Given the description of an element on the screen output the (x, y) to click on. 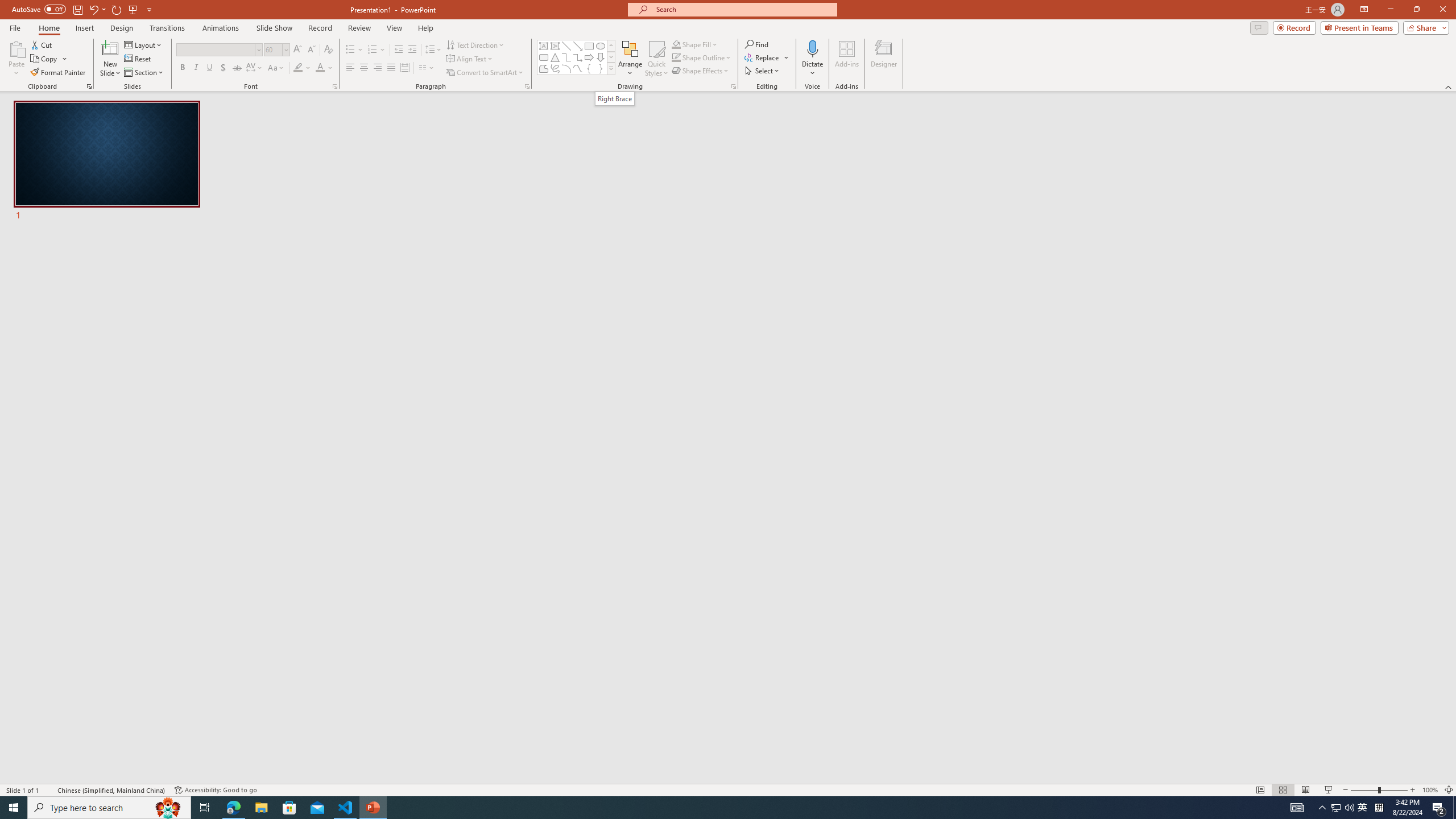
Text Direction (476, 44)
